Given the description of an element on the screen output the (x, y) to click on. 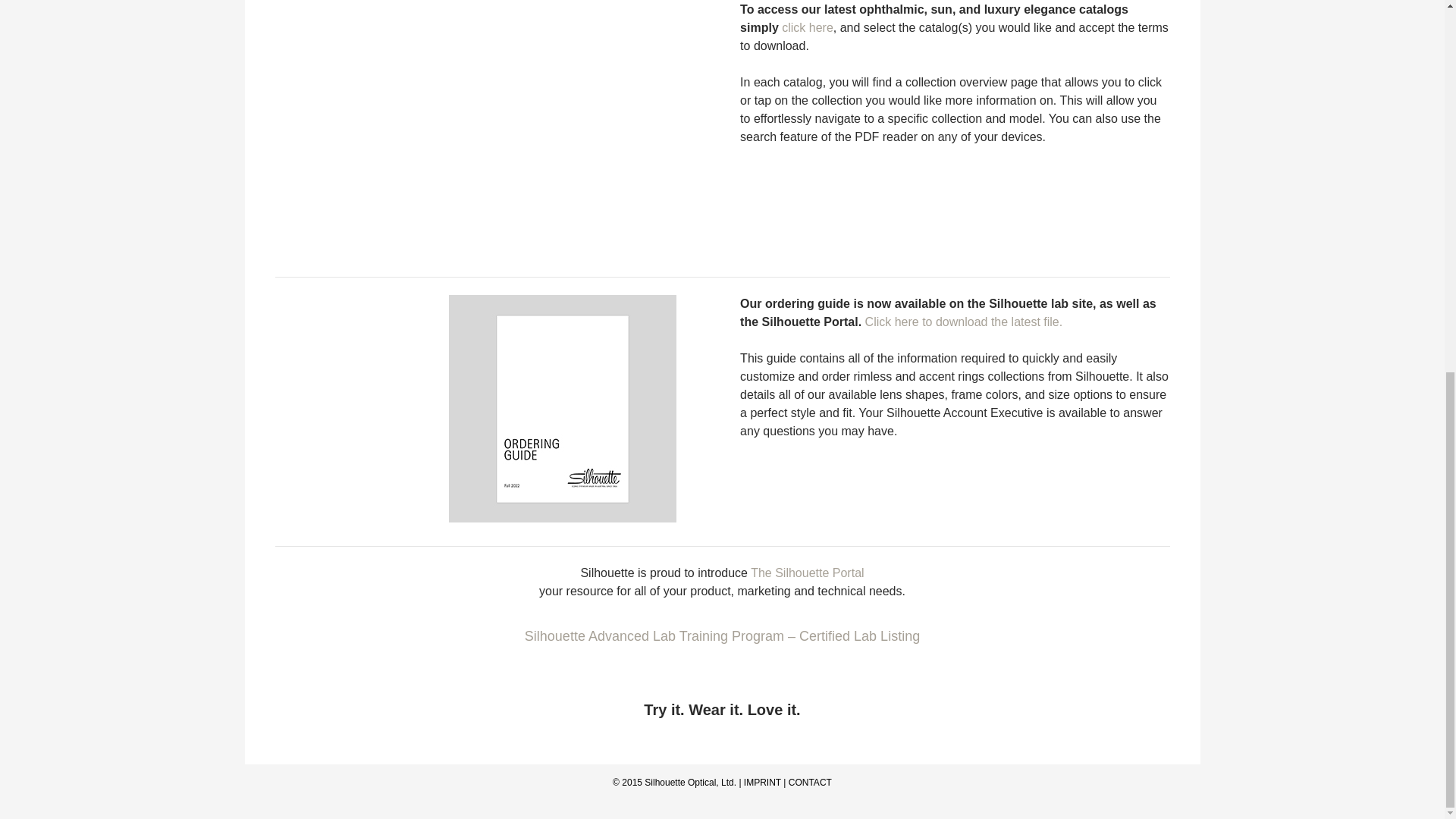
IMPRINT (762, 782)
CONTACT (810, 782)
The Silhouette Portal (807, 572)
click here (806, 27)
Click here to download the latest file. (963, 321)
